Given the description of an element on the screen output the (x, y) to click on. 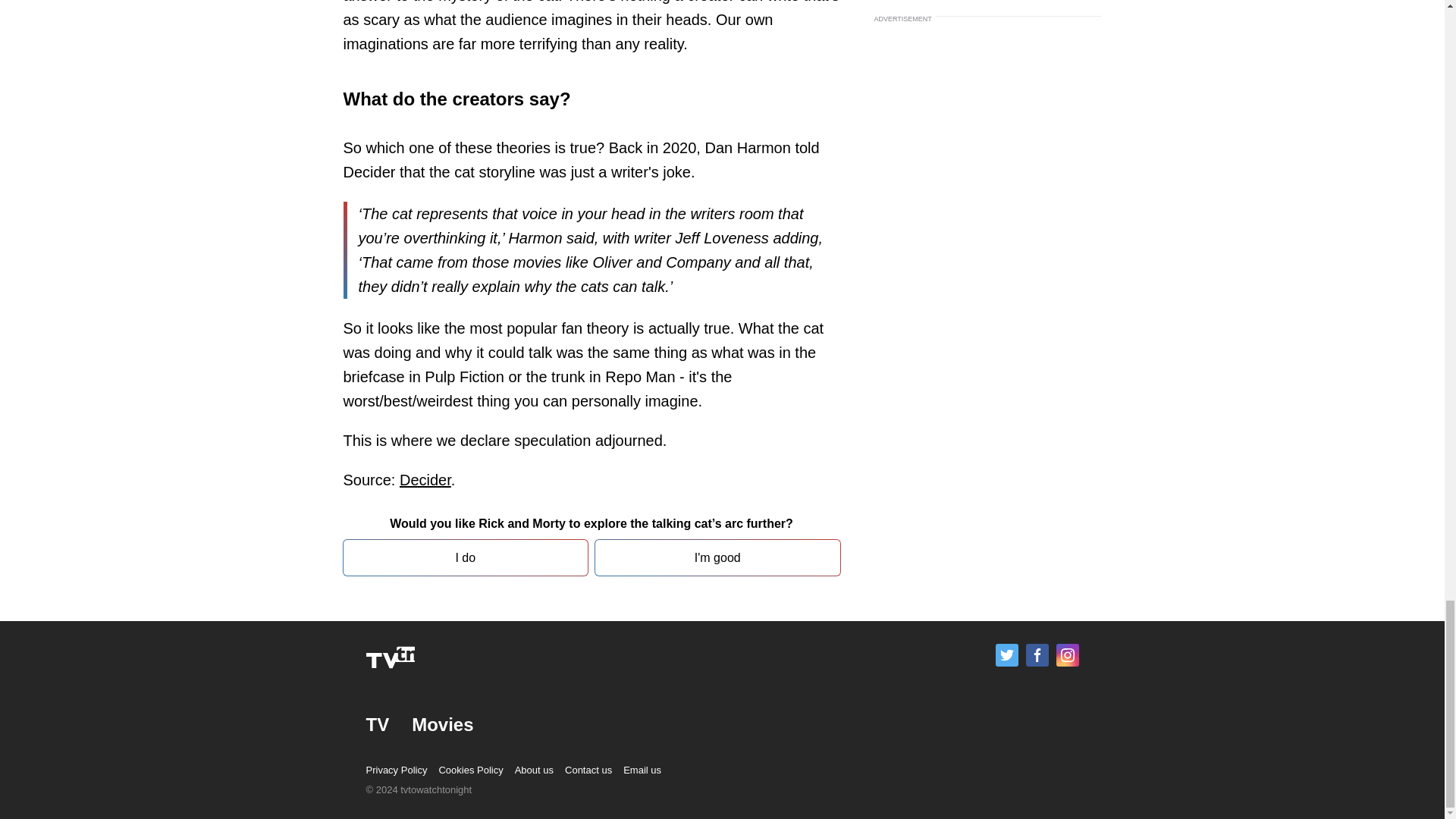
I'm good (717, 557)
I do (465, 557)
Decider (424, 479)
